Given the description of an element on the screen output the (x, y) to click on. 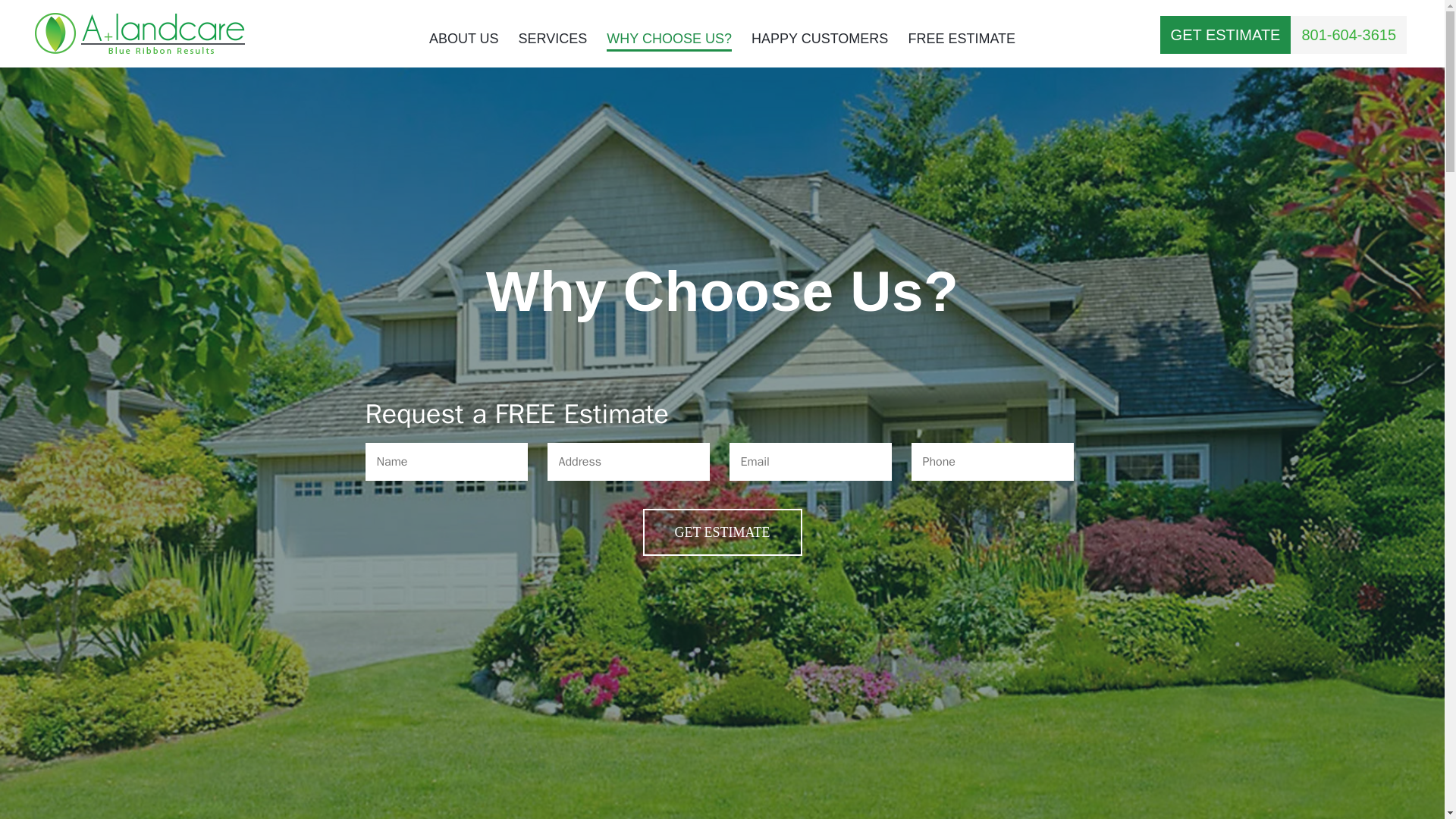
ABOUT US (464, 41)
HAPPY CUSTOMERS (819, 41)
GET ESTIMATE (1225, 34)
GET ESTIMATE (722, 532)
801-604-3615 (1348, 34)
APlusLandcare-Logo-1 (140, 32)
SERVICES (553, 41)
FREE ESTIMATE (960, 41)
Landscaping Services in Salt Lake City (553, 41)
WHY CHOOSE US? (669, 41)
